Given the description of an element on the screen output the (x, y) to click on. 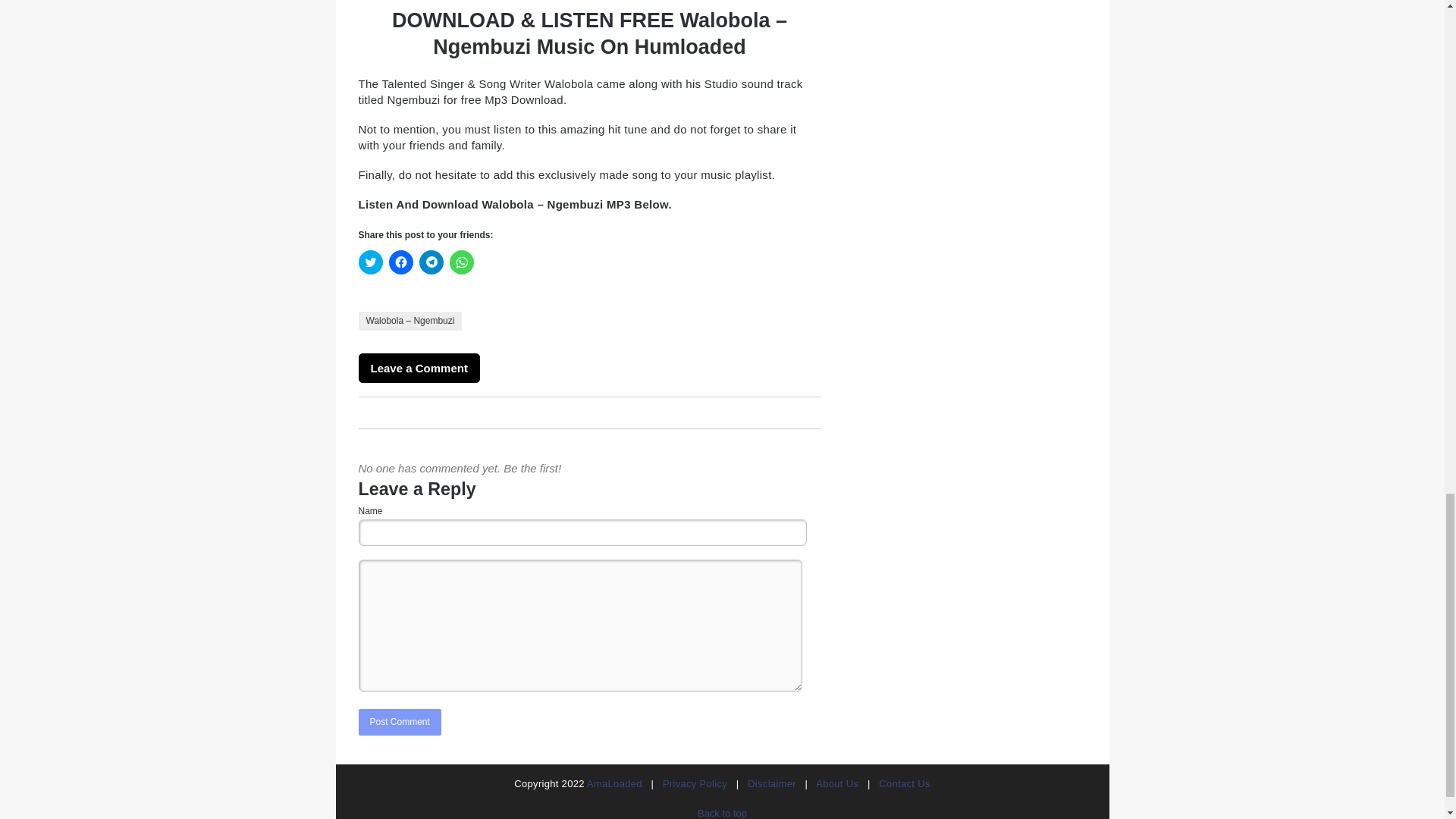
Click to share on Twitter (369, 262)
Post Comment (399, 722)
Click to share on WhatsApp (460, 262)
Post Comment (399, 722)
Click to share on Telegram (430, 262)
Leave a Comment (418, 367)
Click to share on Facebook (400, 262)
